Given the description of an element on the screen output the (x, y) to click on. 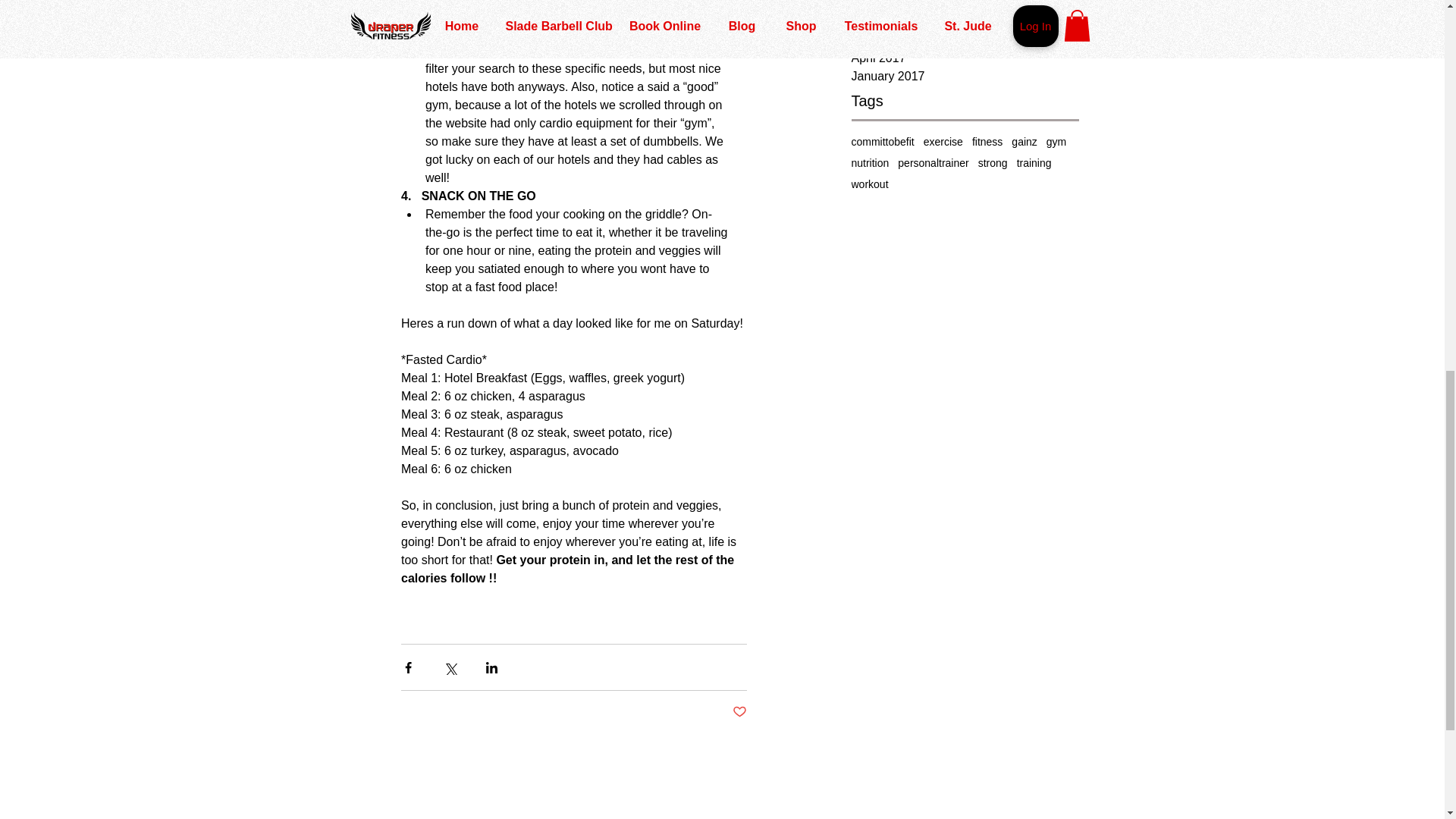
June 2017 (964, 40)
July 2017 (964, 22)
committobefit (882, 141)
January 2017 (964, 76)
April 2017 (964, 58)
August 2017 (964, 6)
